Given the description of an element on the screen output the (x, y) to click on. 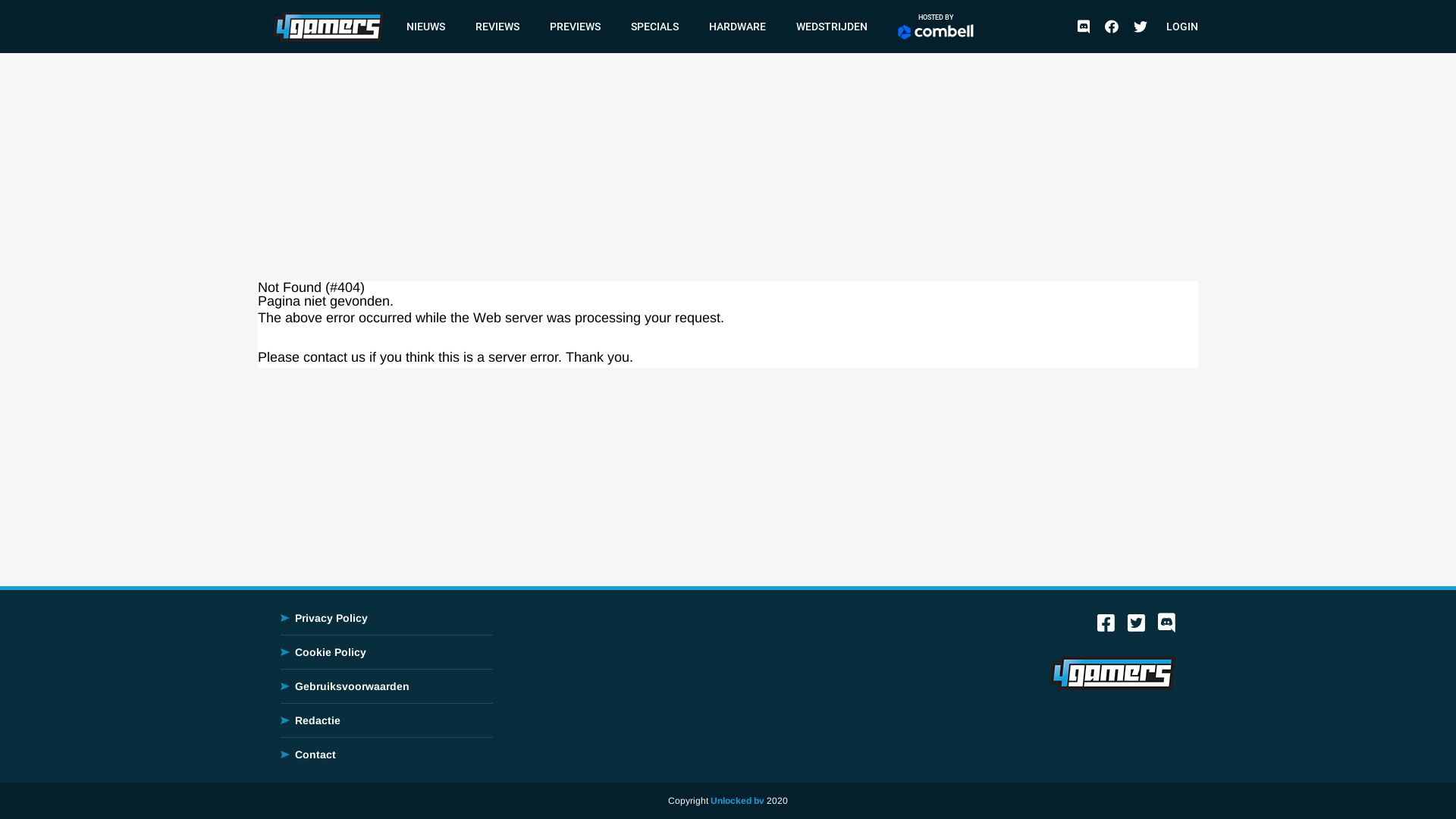
HOSTED BY Element type: text (935, 26)
Contact Element type: text (314, 754)
LOGIN Element type: text (1182, 26)
REVIEWS Element type: text (497, 26)
Twitter Element type: text (1136, 626)
Cookie Policy Element type: text (330, 652)
Twitter Element type: text (1140, 26)
Unlocked bv Element type: text (737, 800)
Redactie Element type: text (317, 720)
SPECIALS Element type: text (654, 26)
Facebook Element type: text (1105, 626)
PREVIEWS Element type: text (575, 26)
Gebruiksvoorwaarden Element type: text (351, 686)
NIEUWS Element type: text (425, 26)
Privacy Policy Element type: text (330, 617)
Discord Element type: text (1083, 26)
Facebook Element type: text (1111, 26)
4Gamers Element type: hover (327, 25)
Discord Element type: text (1166, 626)
HARDWARE Element type: text (737, 26)
Hosting en Webhosting bij Combell Element type: hover (935, 31)
WEDSTRIJDEN Element type: text (831, 26)
